Given the description of an element on the screen output the (x, y) to click on. 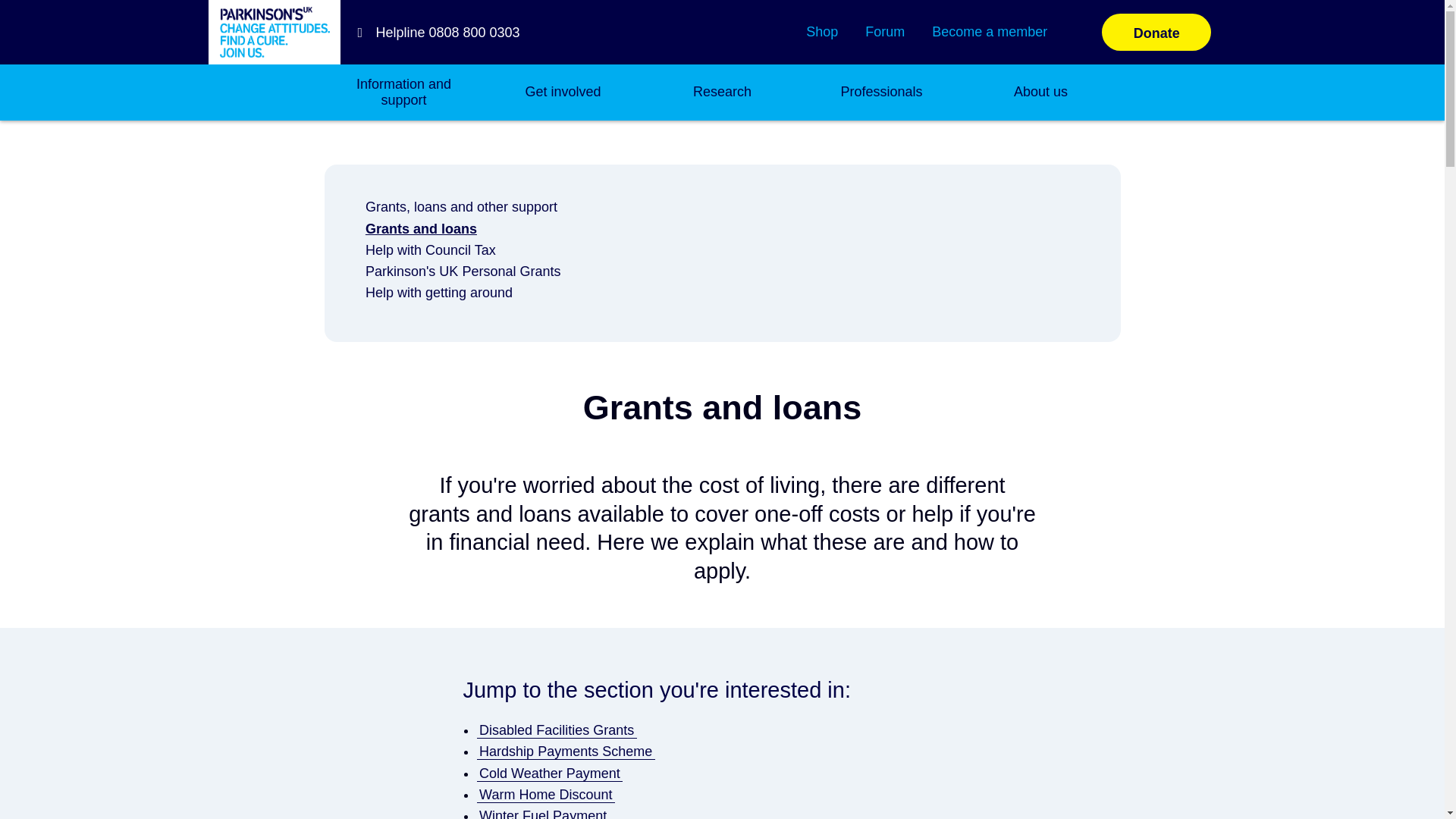
Become a member (988, 32)
Forum (884, 32)
Shop (822, 32)
Information and support (403, 92)
Helpline 0808 800 0303 (433, 32)
Donate (1156, 31)
Parkinson's UK (274, 31)
